Given the description of an element on the screen output the (x, y) to click on. 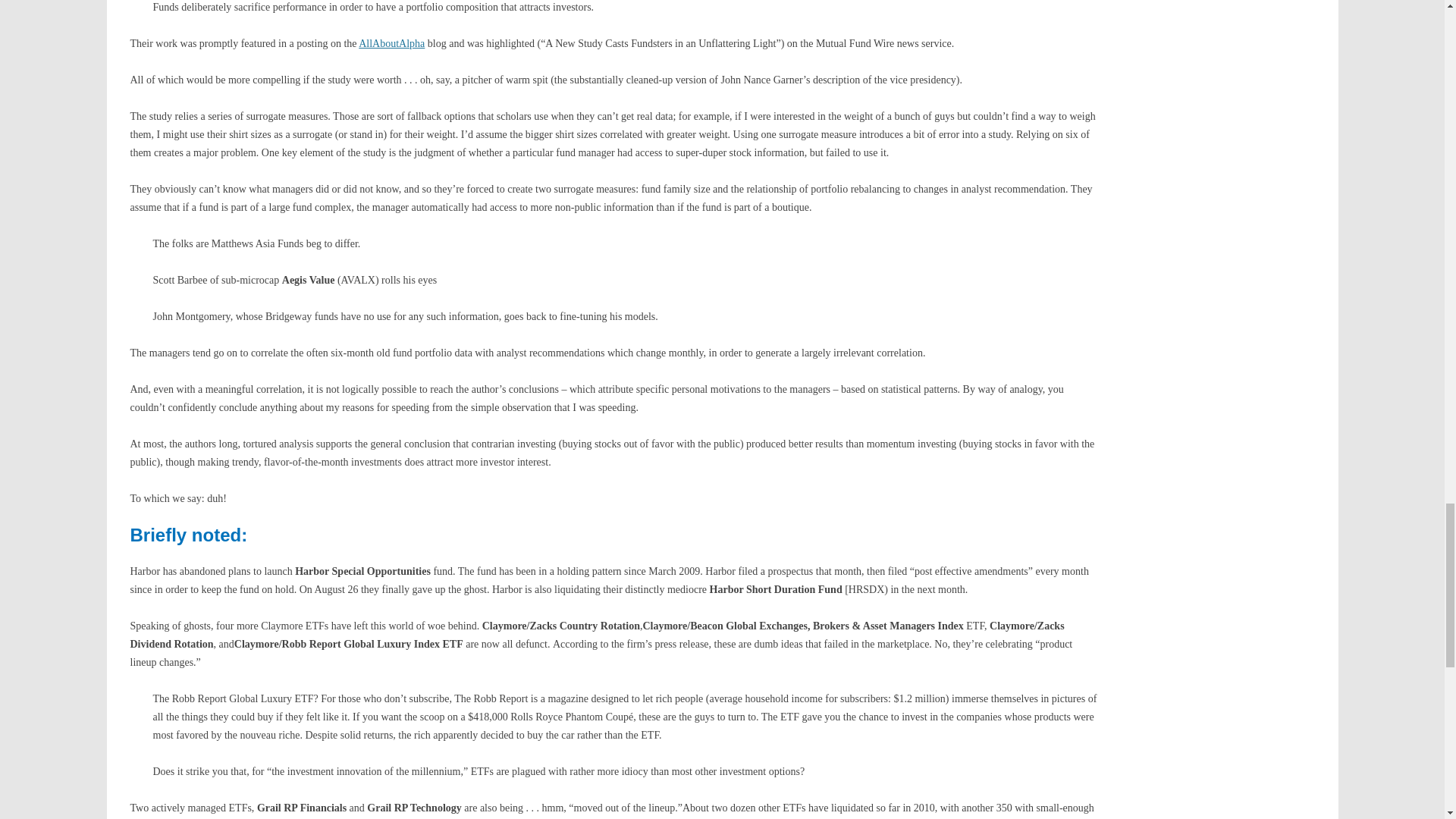
AllAboutAlpha (391, 43)
